Given the description of an element on the screen output the (x, y) to click on. 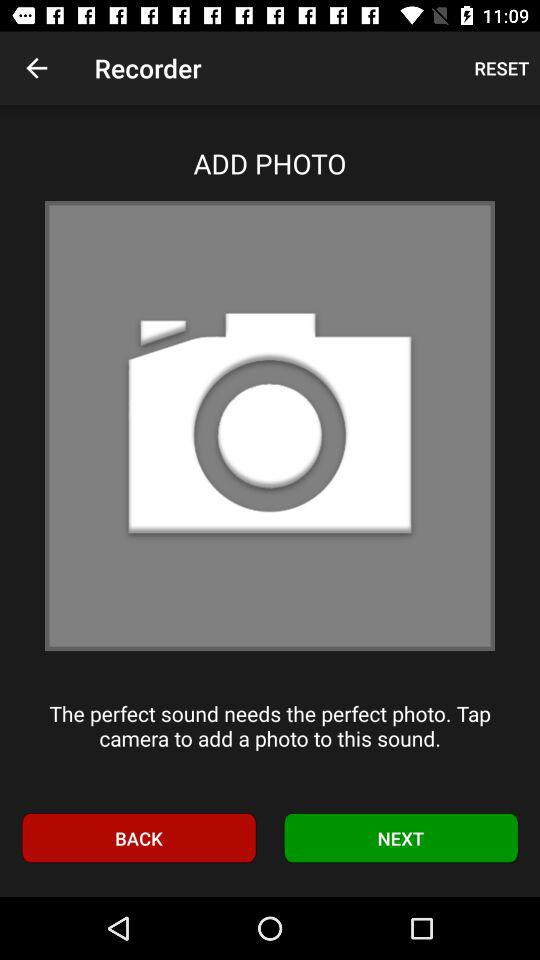
launch the reset at the top right corner (501, 67)
